Given the description of an element on the screen output the (x, y) to click on. 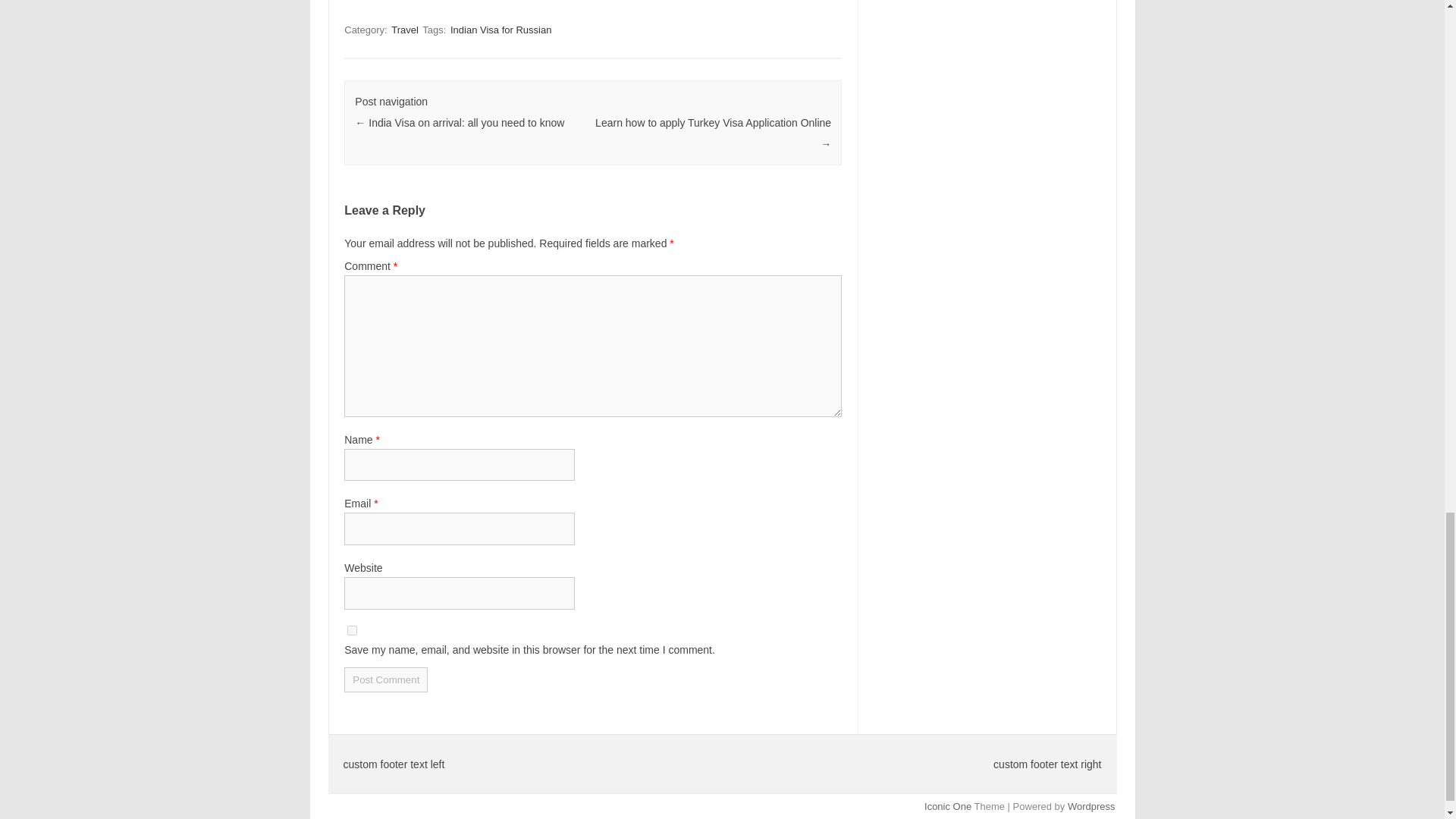
Travel (405, 29)
Post Comment (385, 679)
Wordpress (1091, 806)
yes (351, 630)
Iconic One (947, 806)
Indian Visa for Russian (500, 29)
Post Comment (385, 679)
